Given the description of an element on the screen output the (x, y) to click on. 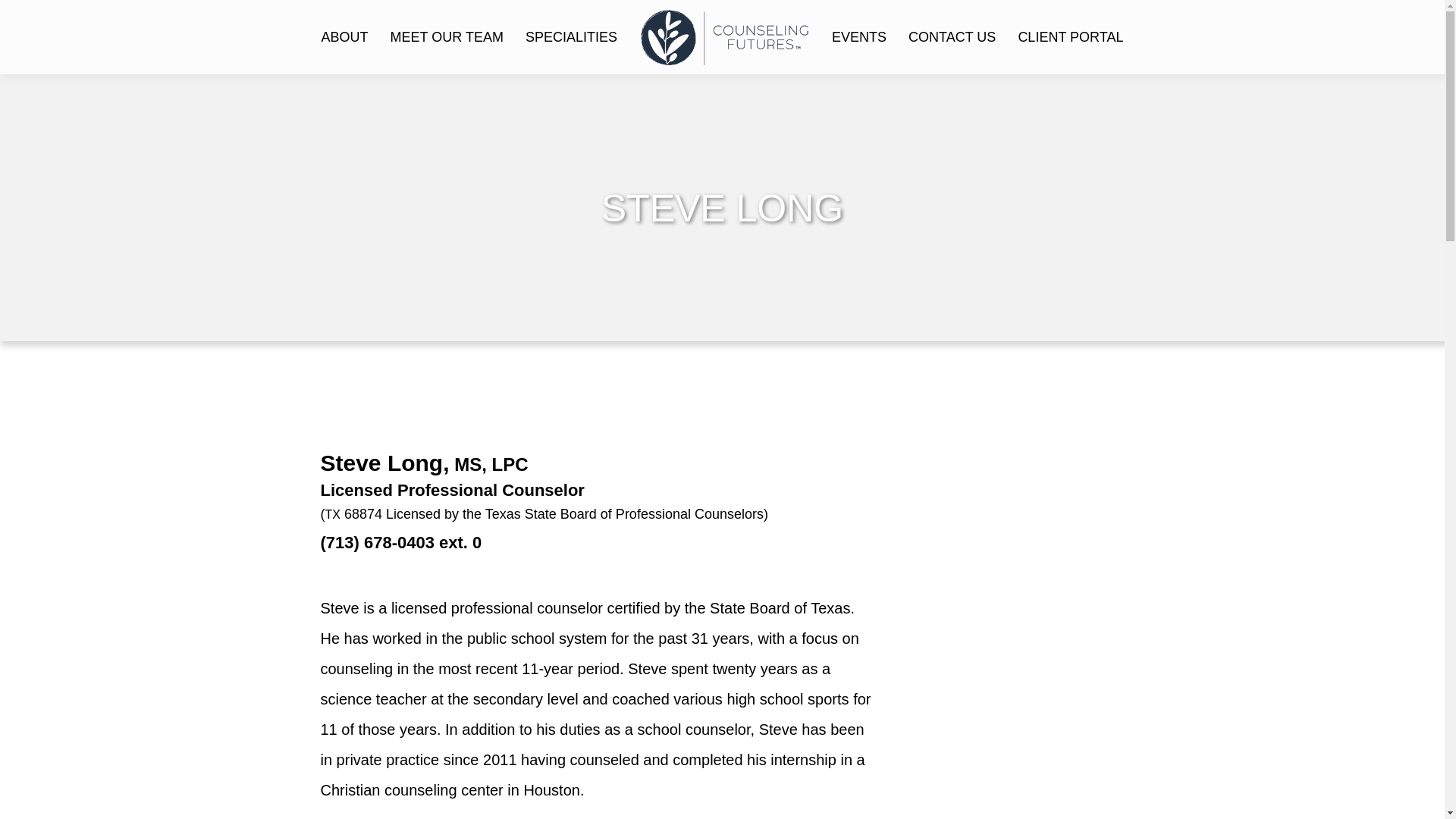
SPECIALITIES (571, 36)
MEET OUR TEAM (446, 36)
EVENTS (858, 36)
ABOUT (344, 36)
CONTACT US (952, 36)
CLIENT PORTAL (1070, 36)
